Given the description of an element on the screen output the (x, y) to click on. 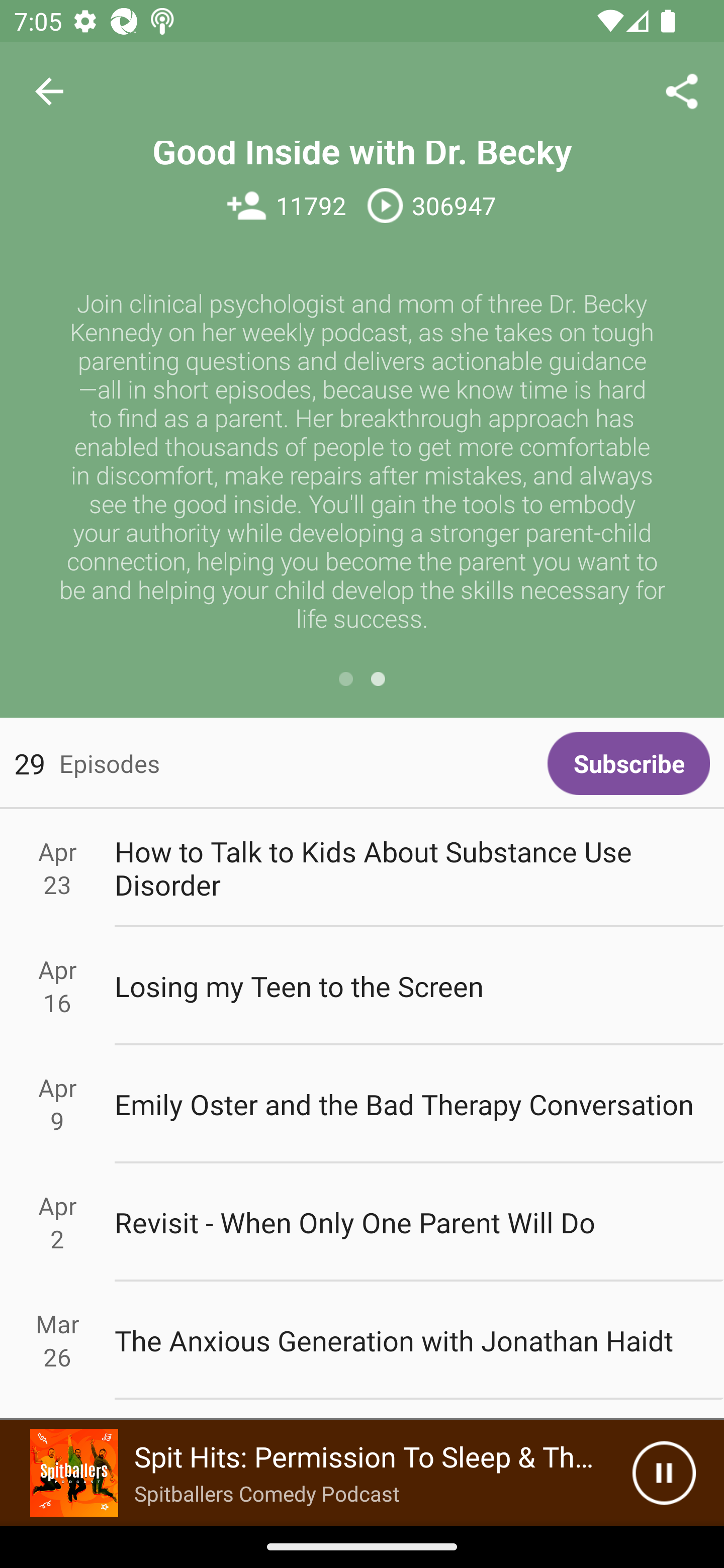
Navigate up (49, 91)
Share... (681, 90)
Subscribe (628, 763)
Apr 16 Losing my Teen to the Screen (362, 985)
Apr 9 Emily Oster and the Bad Therapy Conversation (362, 1104)
Apr 2 Revisit - When Only One Parent Will Do (362, 1222)
Mar 26 The Anxious Generation with Jonathan Haidt (362, 1340)
Pause (663, 1472)
